Given the description of an element on the screen output the (x, y) to click on. 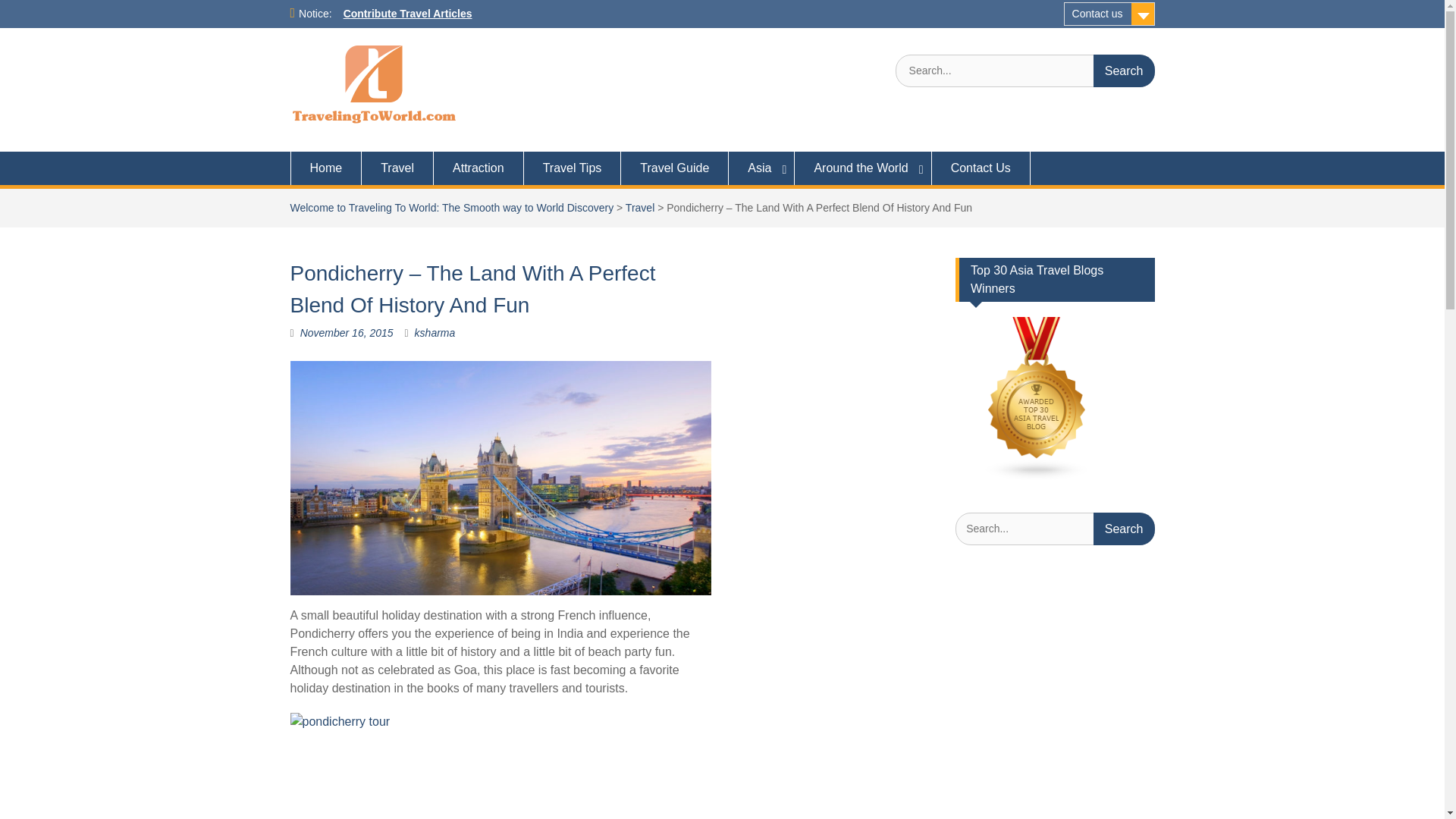
Travel Tips (572, 168)
Travel (397, 168)
Asia (761, 168)
Search (1123, 70)
Search for: (1024, 70)
Asia Travel blogs (1037, 476)
Contact us (1109, 13)
Attraction (478, 168)
Search (1123, 70)
Search for: (1054, 528)
Search (1123, 528)
Contribute Travel Articles (407, 13)
Search (1123, 70)
Travel Guide (675, 168)
Home (325, 168)
